Given the description of an element on the screen output the (x, y) to click on. 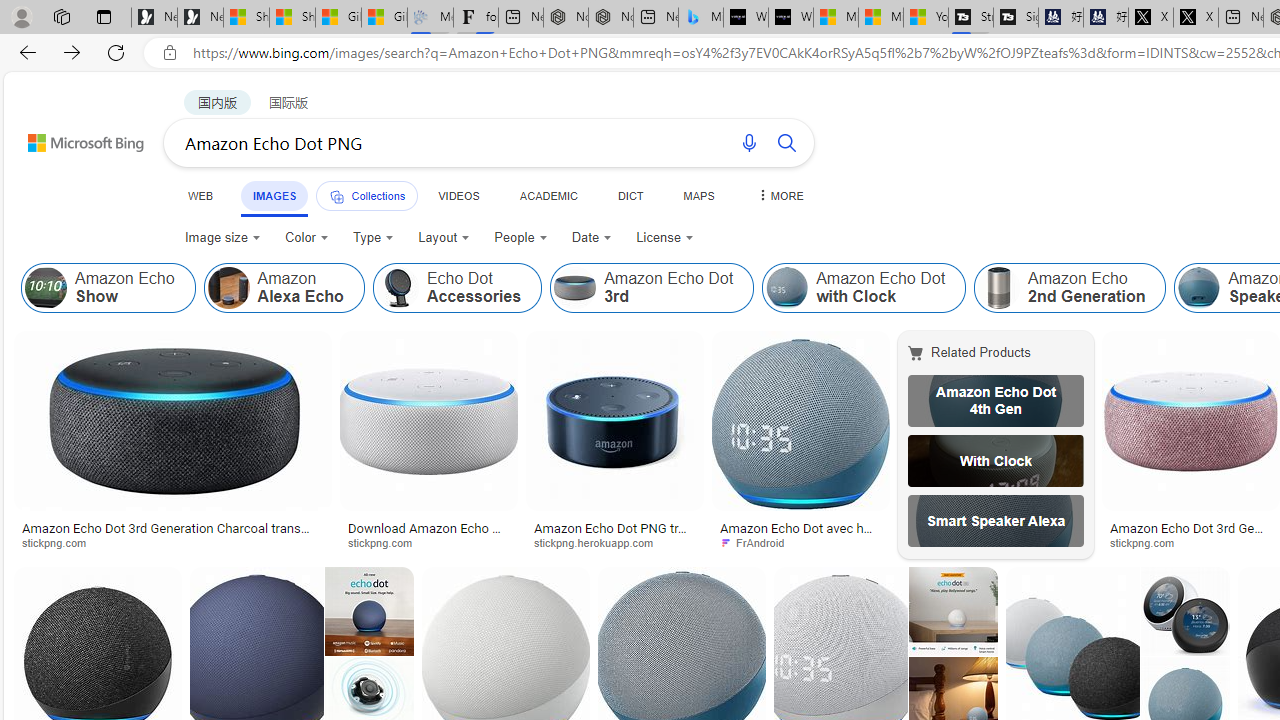
MAPS (698, 195)
Date (591, 237)
Amazon Echo Dot with Clock (864, 287)
Color (305, 237)
Search using voice (748, 142)
Amazon Echo 2nd Generation (999, 287)
Echo Dot Accessories (456, 287)
Dropdown Menu (779, 195)
Amazon Echo Show (45, 287)
Amazon Alexa Echo (283, 287)
Search button (786, 142)
